Given the description of an element on the screen output the (x, y) to click on. 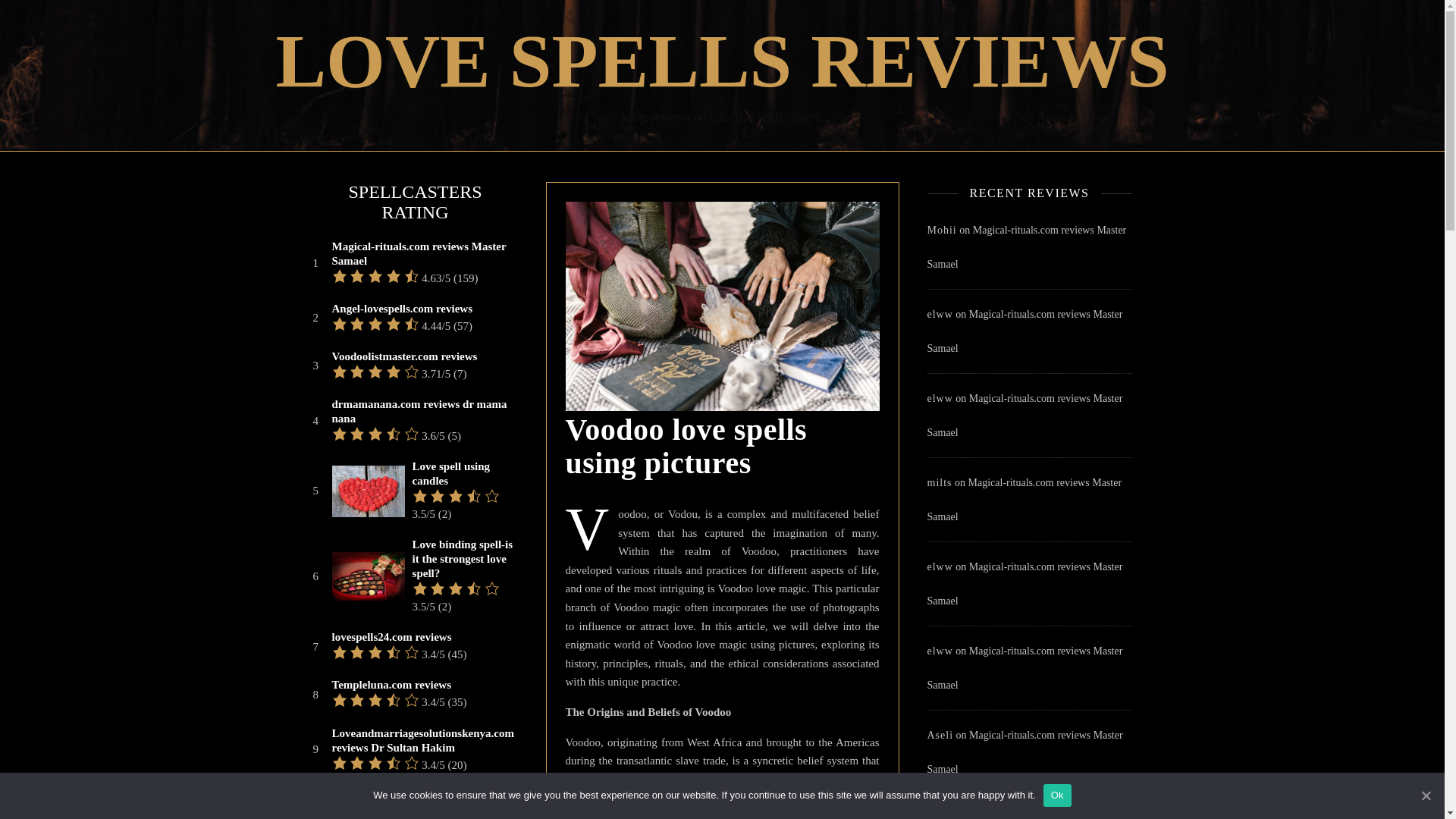
Magical-rituals.com reviews Master Samael (423, 253)
Templeluna.com reviews (391, 685)
lovespellslovespell.co.uk reviews Witch Arabella (423, 802)
Loveandmarriagesolutionskenya.com reviews Dr Sultan Hakim (423, 740)
drmamanana.com reviews dr mama nana (423, 411)
Magical-rituals.com reviews Master Samael (1024, 751)
Magical-rituals.com reviews Master Samael (1024, 415)
Magical-rituals.com reviews Master Samael (1024, 330)
lovespells24.com reviews (391, 636)
Love spell using candles (463, 473)
